Given the description of an element on the screen output the (x, y) to click on. 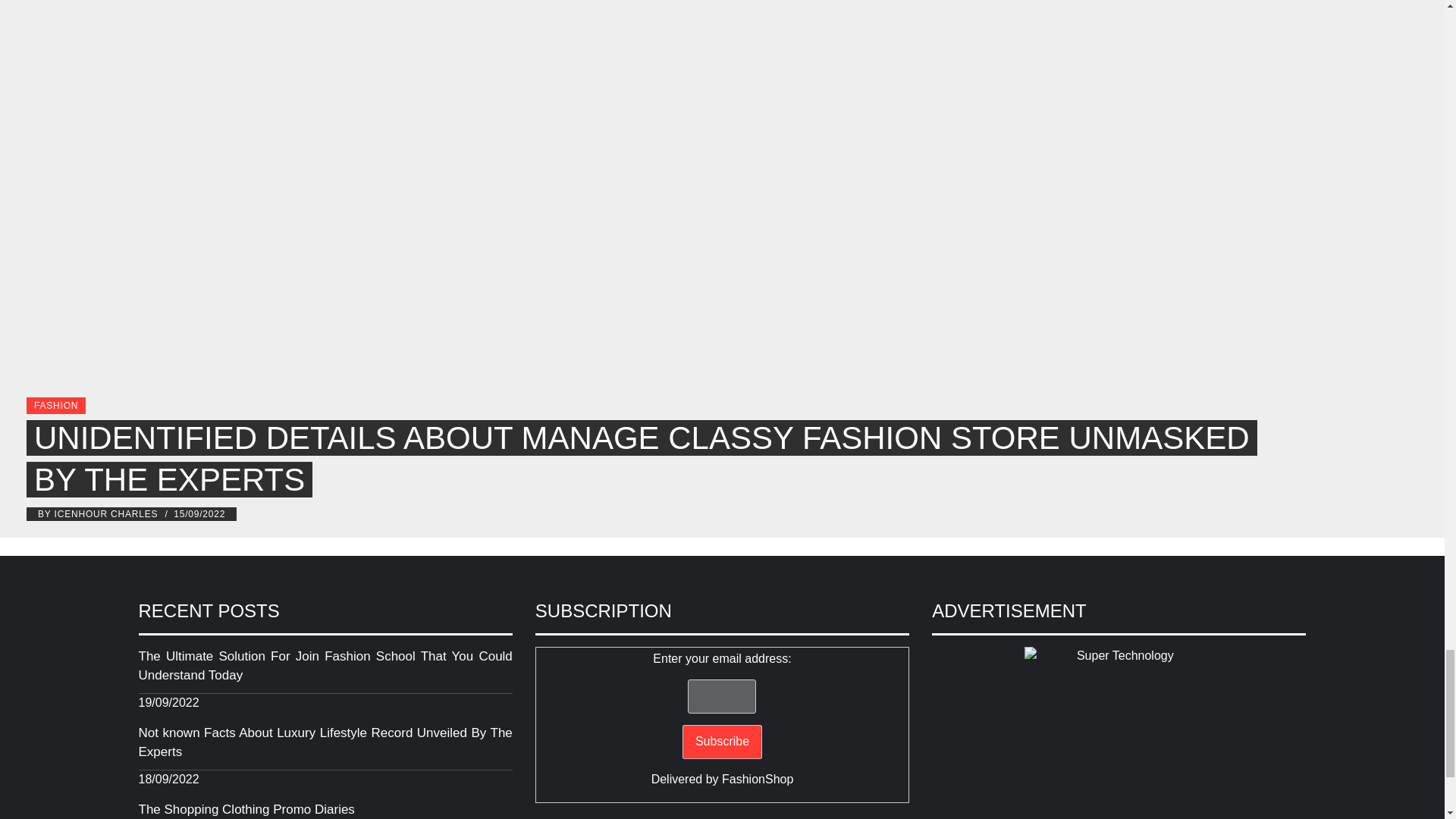
Subscribe (721, 741)
Super Technology (1119, 733)
